Given the description of an element on the screen output the (x, y) to click on. 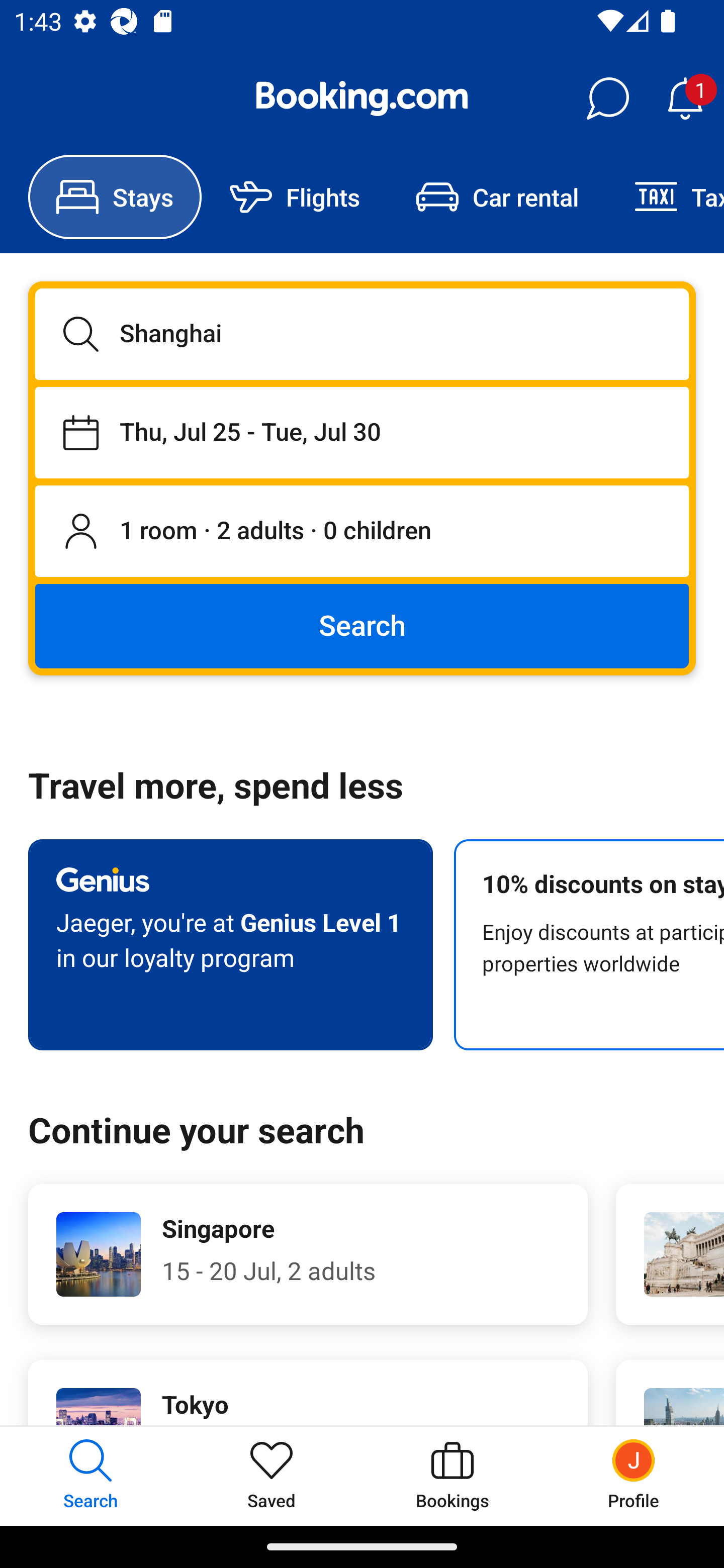
Messages (607, 98)
Notifications (685, 98)
Stays (114, 197)
Flights (294, 197)
Car rental (497, 197)
Taxi (665, 197)
Shanghai (361, 333)
Staying from Thu, Jul 25 until Tue, Jul 30 (361, 432)
1 room, 2 adults, 0 children (361, 531)
Search (361, 625)
Singapore 15 - 20 Jul, 2 adults (307, 1253)
Saved (271, 1475)
Bookings (452, 1475)
Profile (633, 1475)
